Given the description of an element on the screen output the (x, y) to click on. 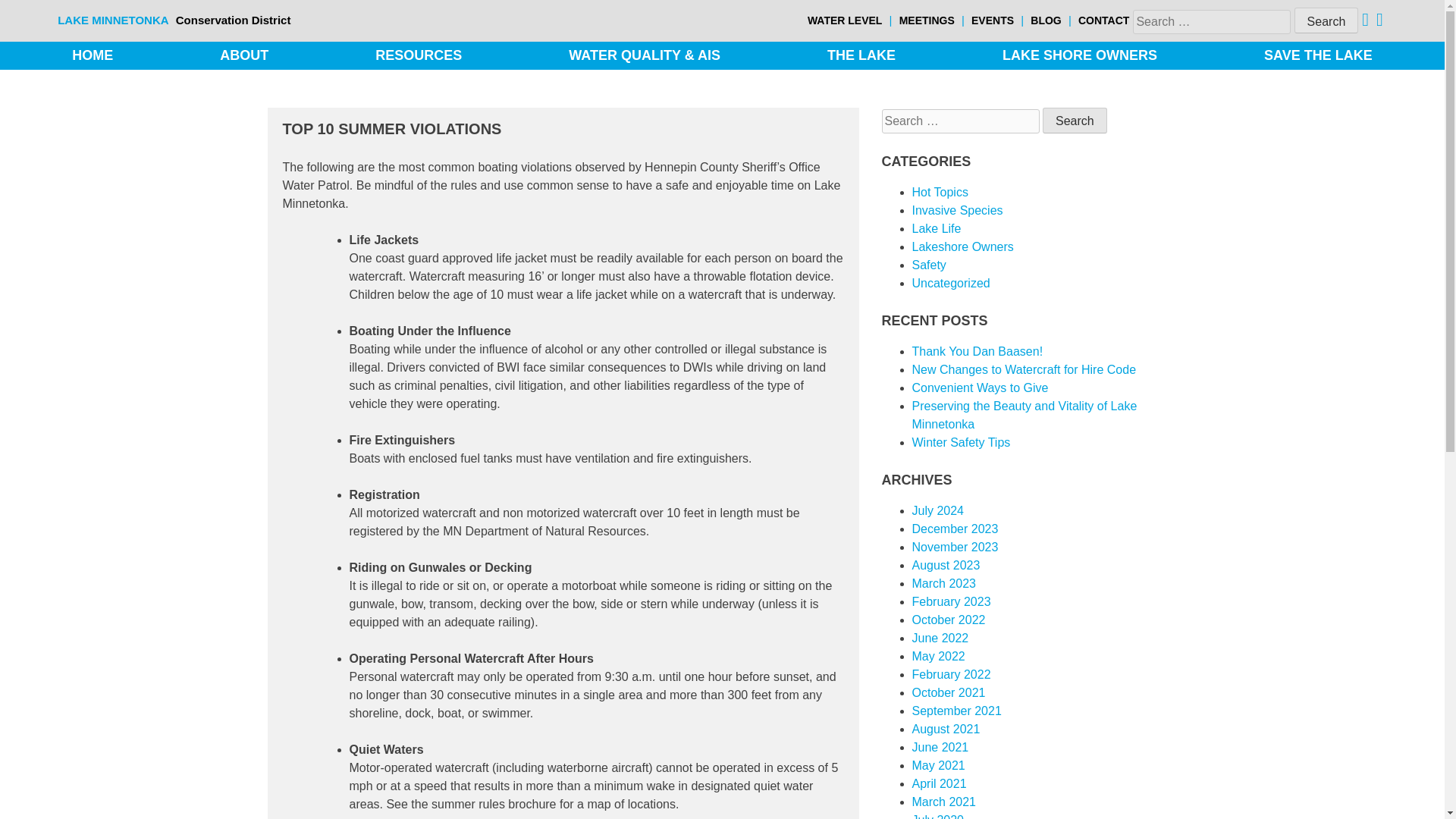
MEETINGS (927, 20)
Search (1326, 20)
HOME (92, 55)
ABOUT (243, 55)
RESOURCES (418, 55)
WATER LEVEL (845, 20)
Search (1326, 20)
Search (1074, 120)
CONTACT (1103, 20)
BLOG (1045, 20)
Search (1074, 120)
LAKE SHORE OWNERS (1080, 55)
Search (1326, 20)
THE LAKE (861, 55)
EVENTS (992, 20)
